Given the description of an element on the screen output the (x, y) to click on. 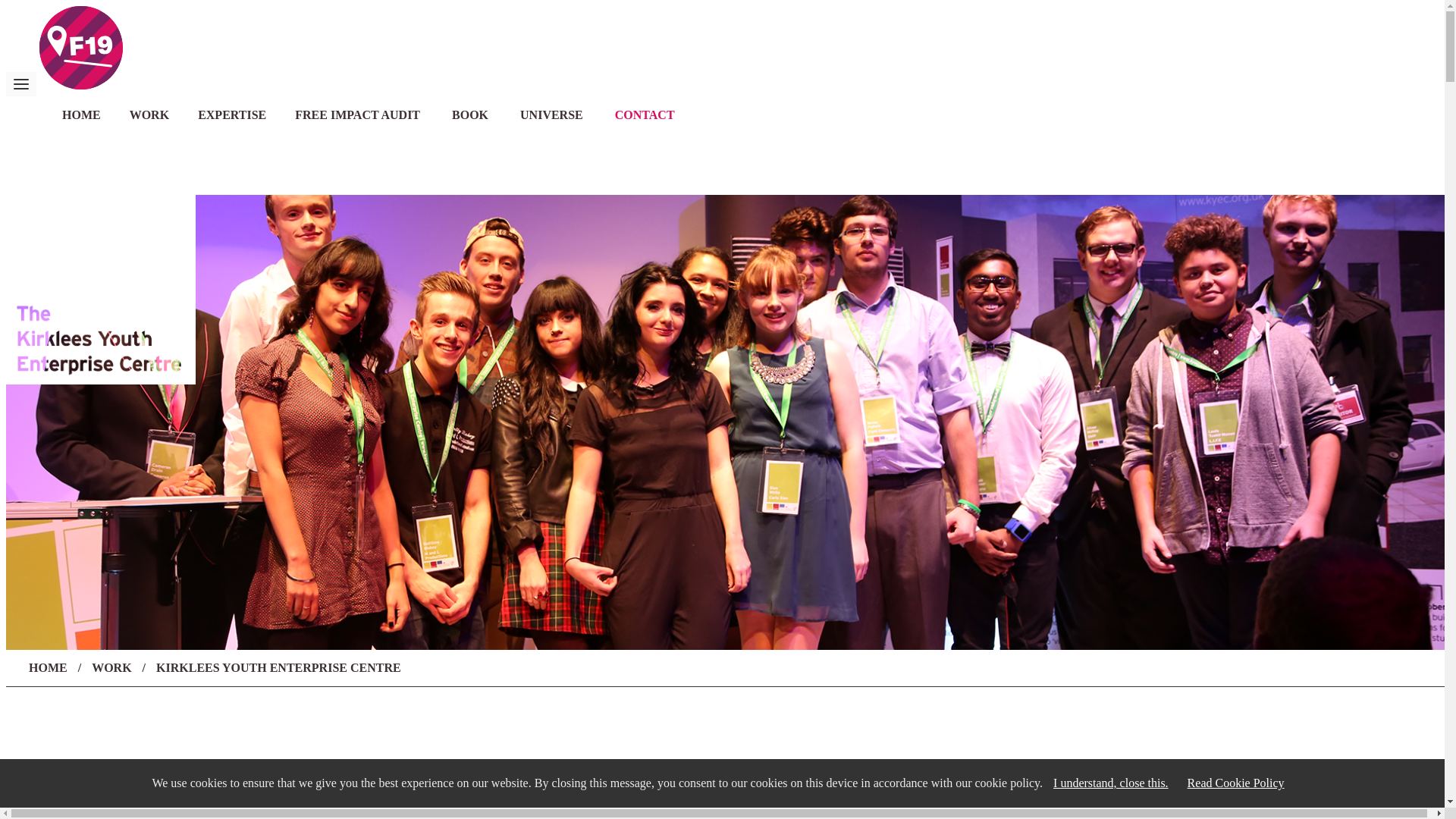
FREE IMPACT AUDIT (357, 120)
WORK (111, 667)
BOOK (470, 120)
CONTACT (644, 120)
WORK (148, 120)
HOME (47, 667)
UNIVERSE (551, 120)
KIRKLEES YOUTH ENTERPRISE CENTRE (278, 667)
HOME (81, 120)
I understand, close this. (1110, 782)
Read Cookie Policy (1235, 782)
EXPERTISE (232, 120)
